Given the description of an element on the screen output the (x, y) to click on. 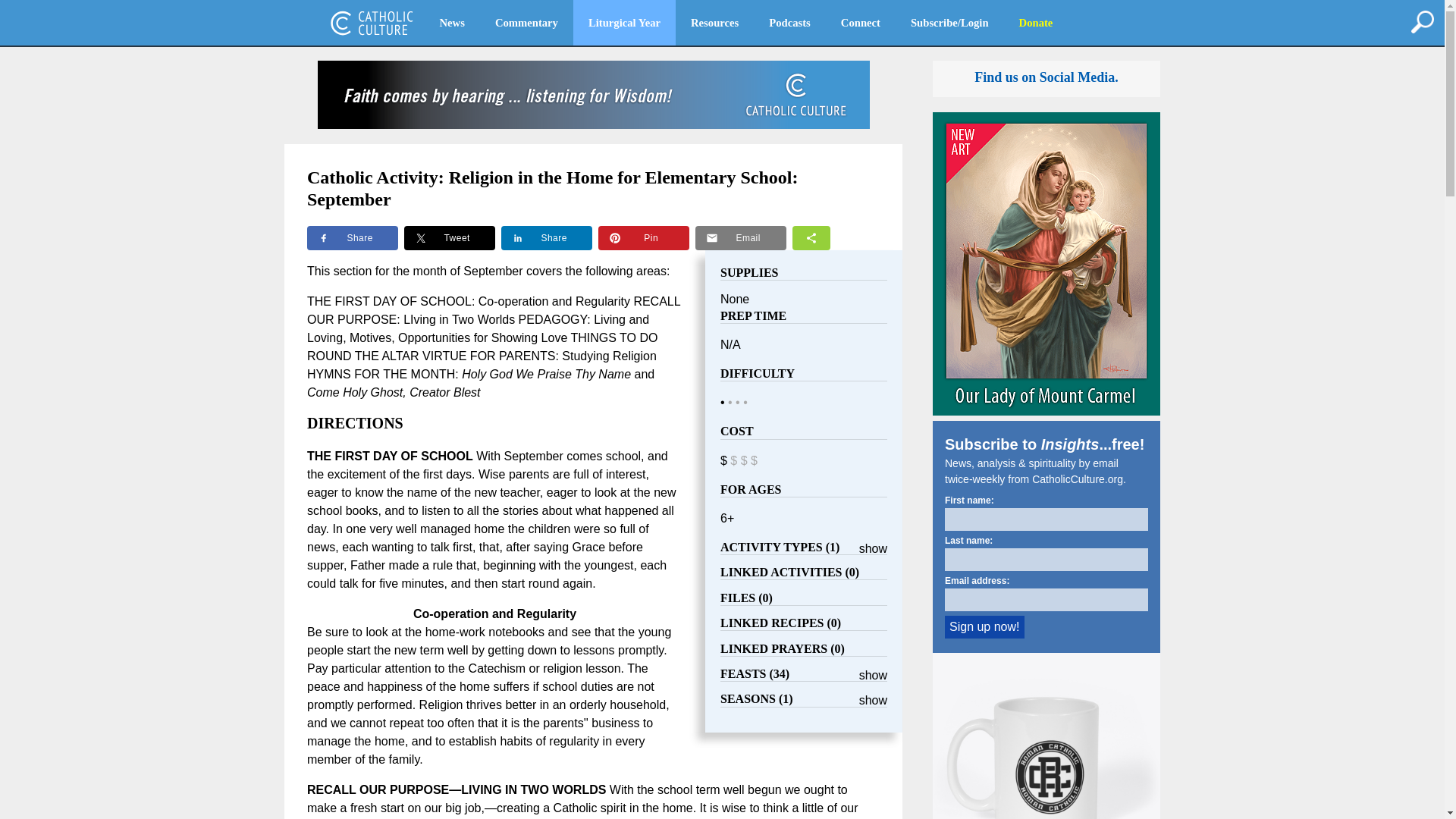
Sign up now! (984, 626)
News (452, 22)
CatholicCulture.org (371, 22)
Podcasts (789, 22)
Resources (714, 22)
Commentary (526, 22)
Liturgical Year (624, 22)
